Given the description of an element on the screen output the (x, y) to click on. 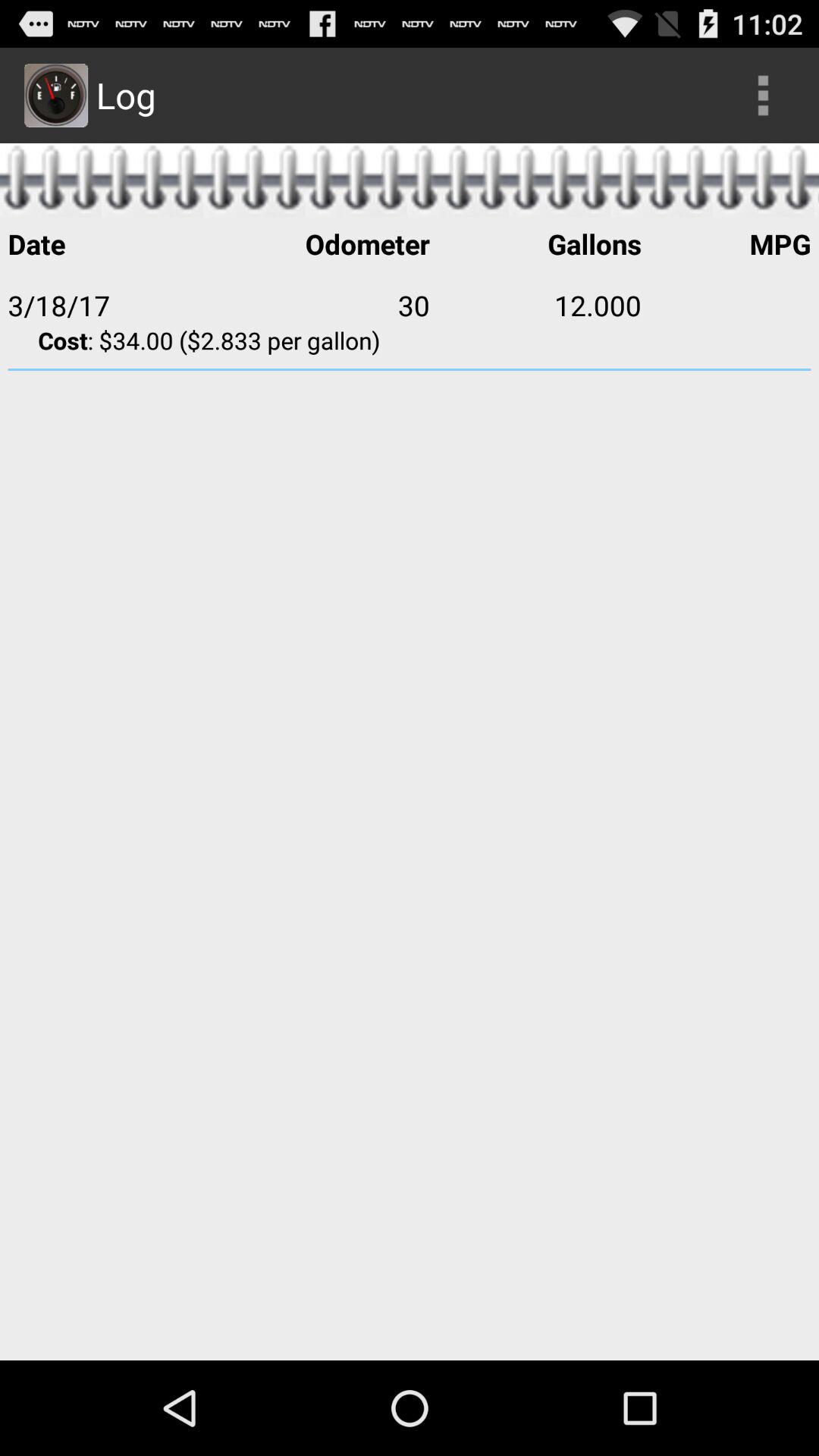
turn on the item next to the 30 app (535, 305)
